Given the description of an element on the screen output the (x, y) to click on. 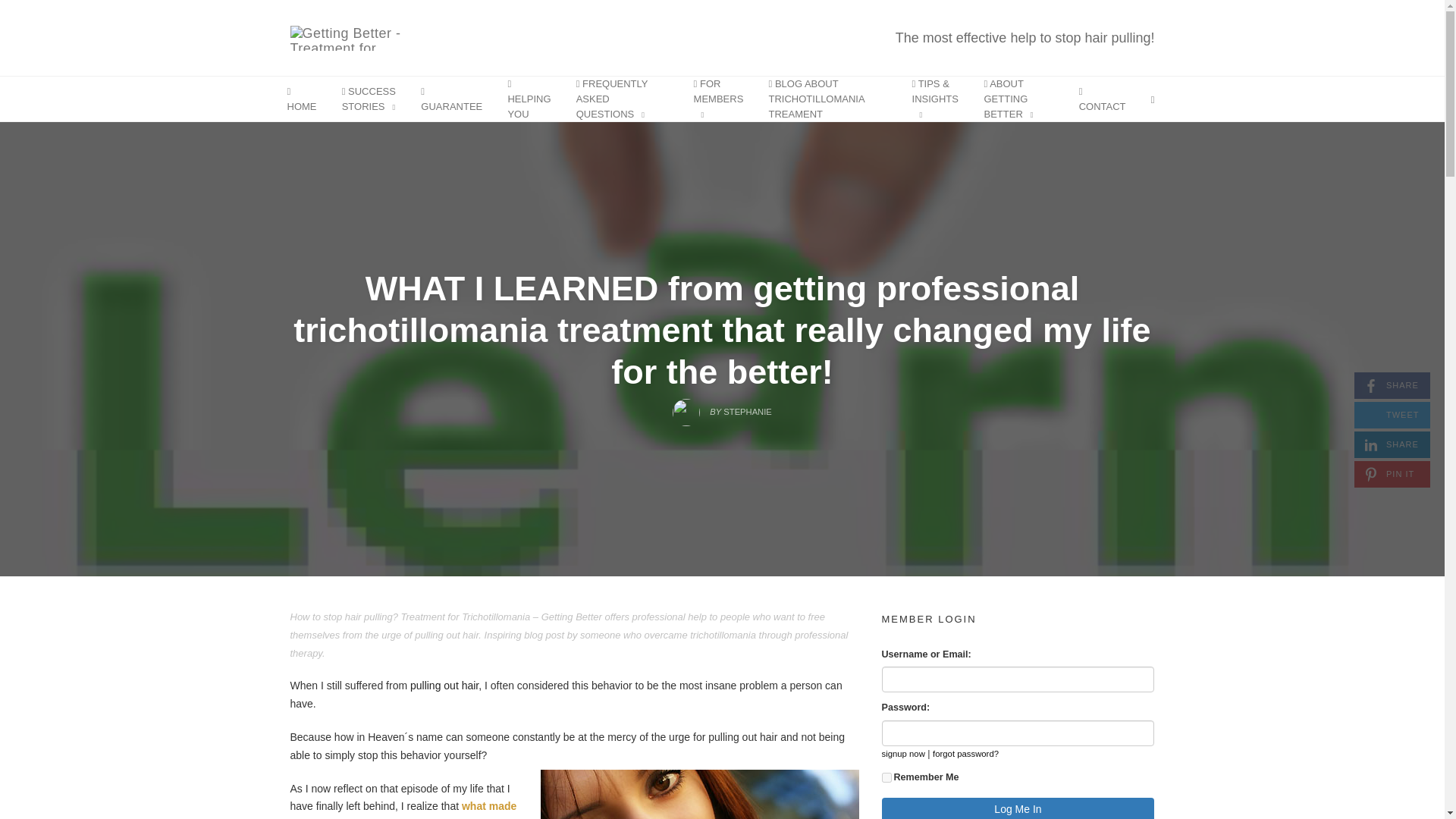
SUCCESS STORIES (1391, 444)
HOME (368, 98)
BLOG ABOUT TRICHOTILLOMANIA TREAMENT (301, 98)
forever (827, 98)
GUARANTEE (885, 777)
FOR MEMBERS (451, 98)
Getting Better - Treatment for Trichotillomania (718, 98)
BY STEPHANIE (373, 37)
HELPING YOU (721, 407)
Username (1391, 385)
Password (529, 98)
ABOUT GETTING BETTER (1017, 679)
CONTACT (1017, 733)
